Given the description of an element on the screen output the (x, y) to click on. 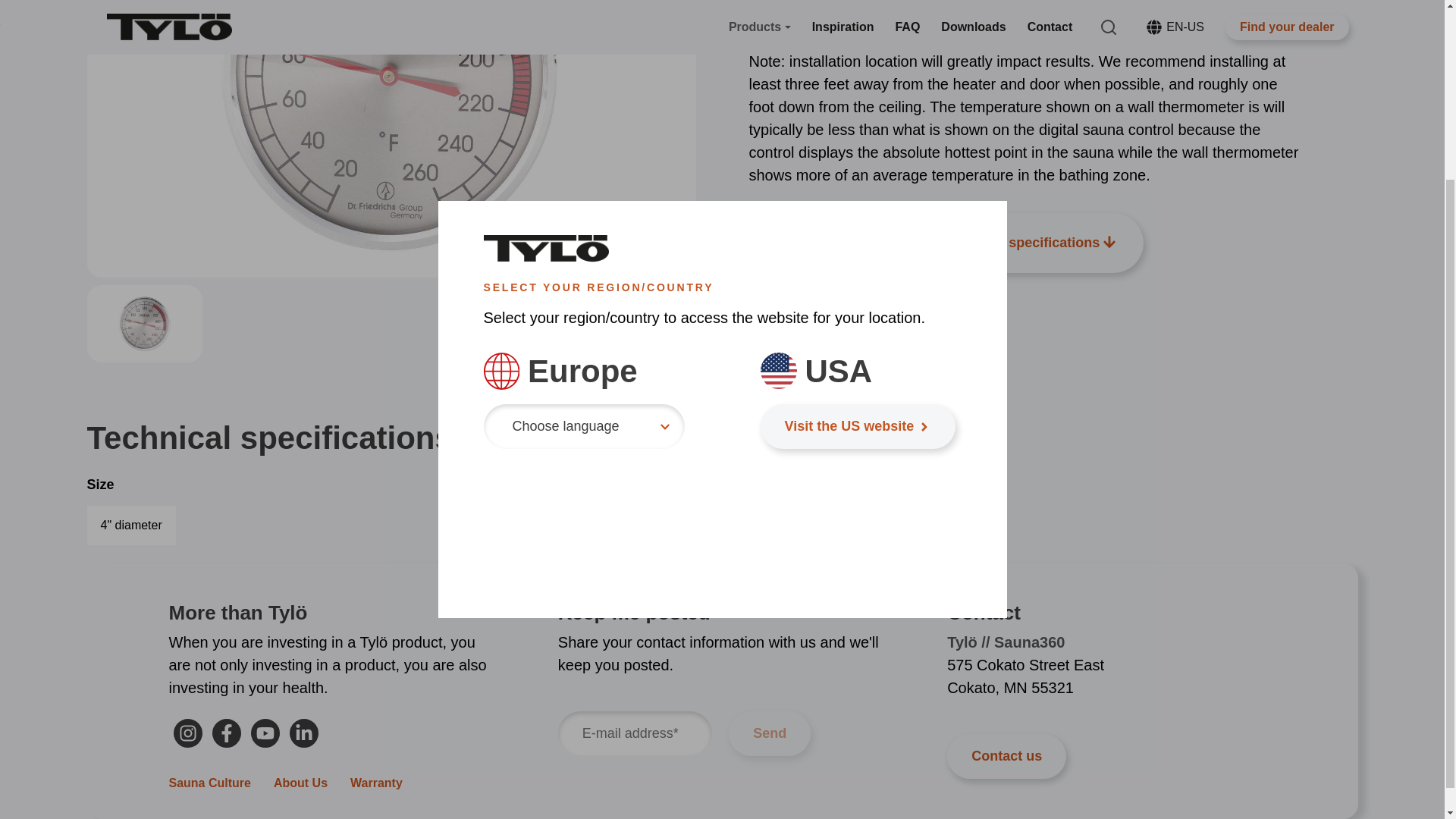
Choose language (187, 733)
Send (583, 199)
Visit the US website (769, 733)
LinkedIn (857, 199)
Technical specifications (303, 732)
Facebook (1031, 242)
Instagram (225, 732)
YouTube (187, 732)
Find your dealer (265, 732)
